Given the description of an element on the screen output the (x, y) to click on. 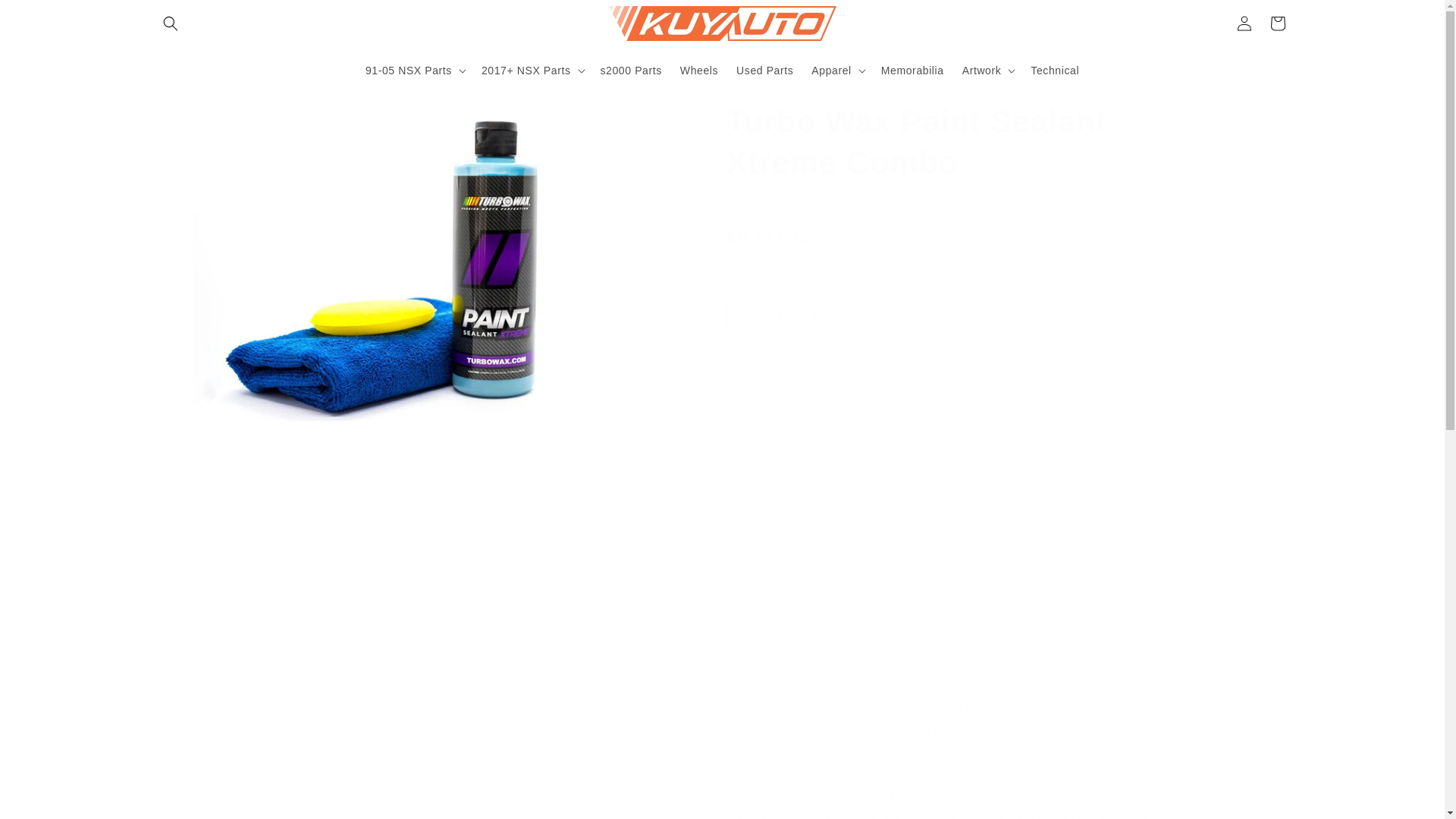
Skip to content (45, 17)
1 (780, 316)
